Given the description of an element on the screen output the (x, y) to click on. 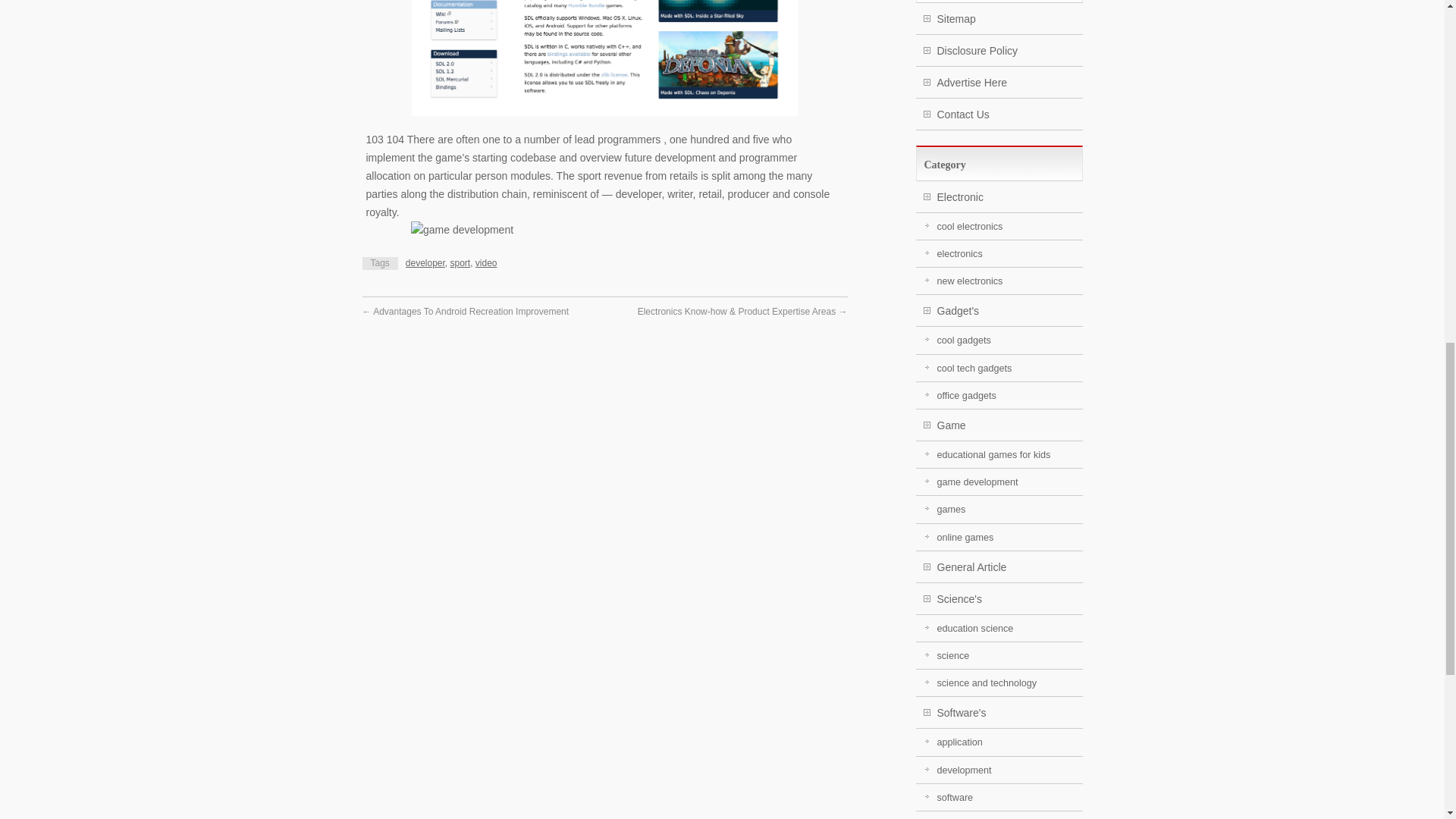
video (486, 262)
developer (425, 262)
sport (459, 262)
